Given the description of an element on the screen output the (x, y) to click on. 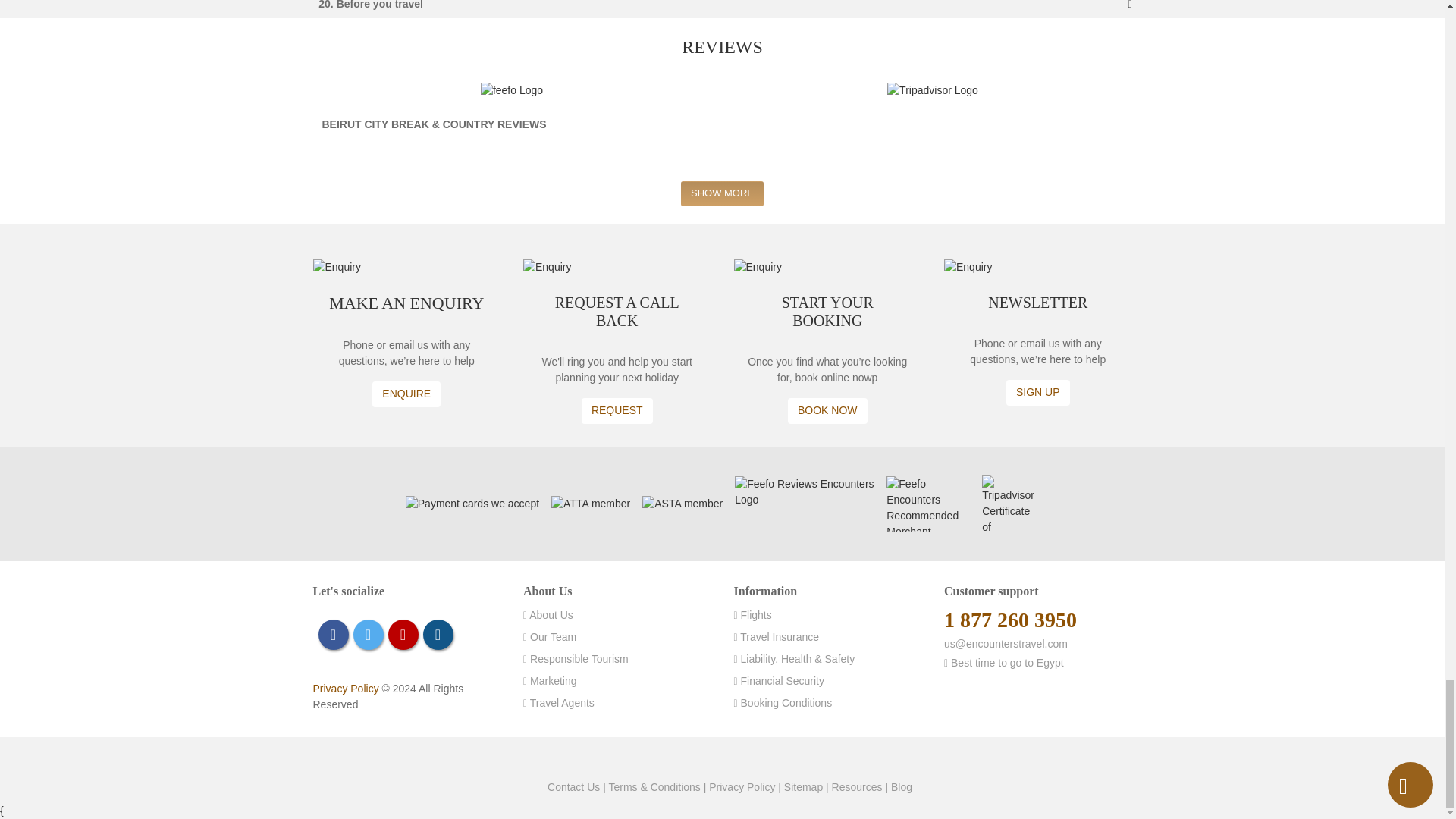
Make an enquiry (406, 394)
Newsletter sign up (1038, 392)
Start your booking (827, 411)
Request a call back (616, 411)
Egypt Uncovered United Kingdom (718, 756)
Encounters Global  (694, 756)
Show More (721, 193)
